Given the description of an element on the screen output the (x, y) to click on. 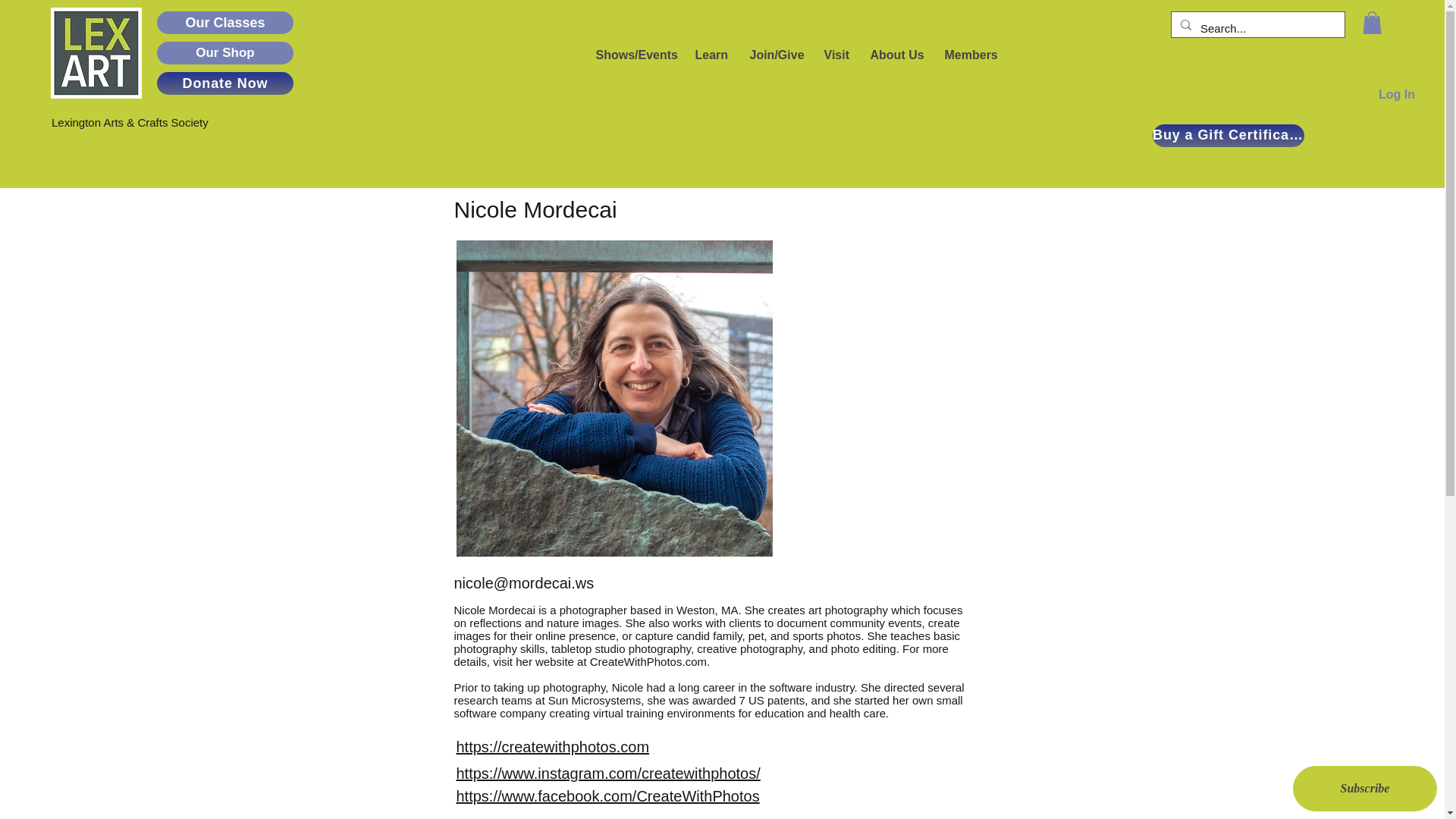
Donate Now (225, 83)
Visit (833, 54)
About Us (896, 54)
Learn (709, 54)
Buy a Gift Certificate! (1228, 135)
Our Classes (225, 22)
Log In (1396, 94)
Members (970, 54)
Our Shop (225, 52)
